Given the description of an element on the screen output the (x, y) to click on. 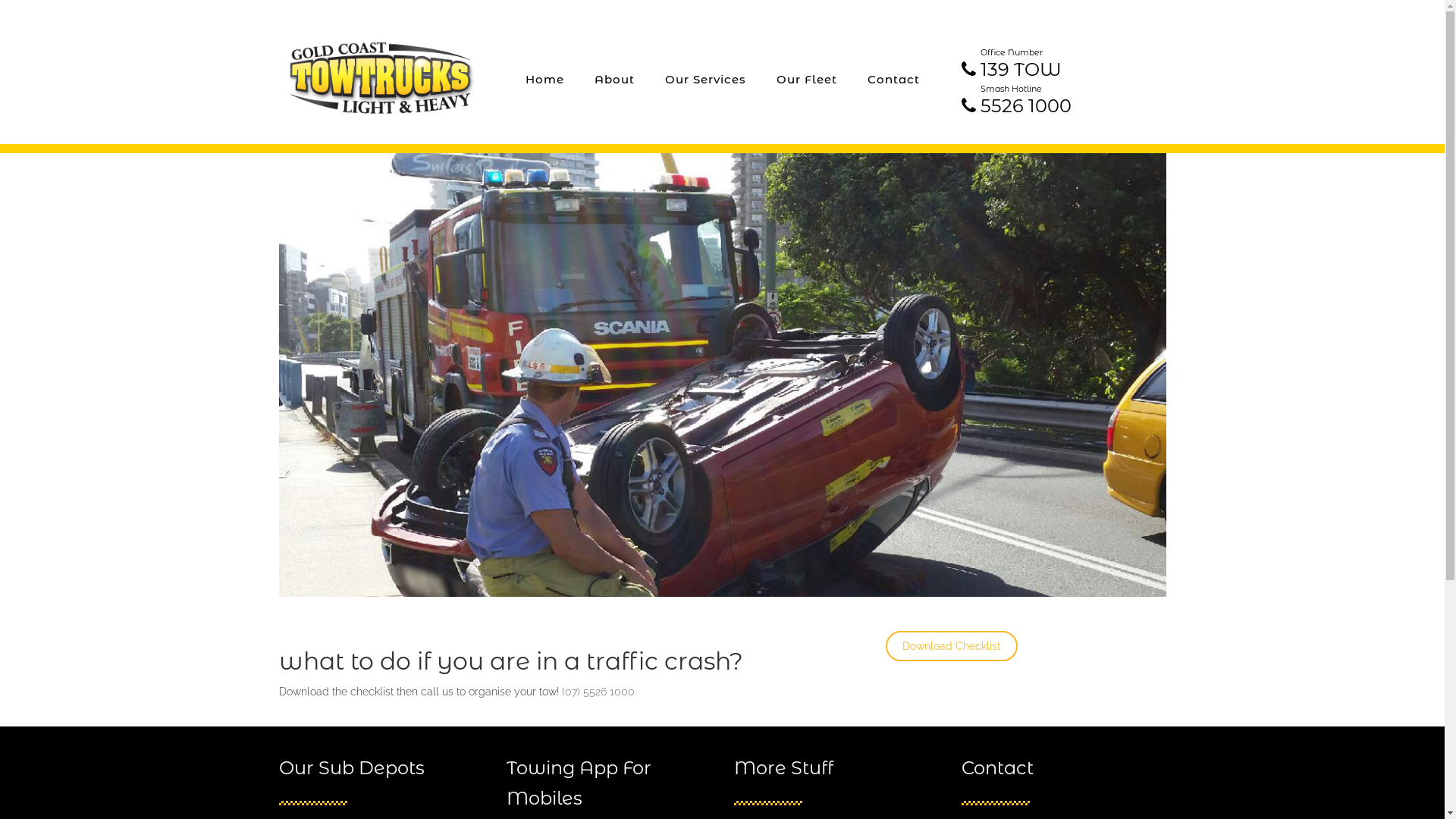
Our Fleet Element type: text (806, 79)
(07) 5526 1000 Element type: text (597, 691)
GoldCoast_TowTrucks_accident_1200x600 Element type: hover (722, 374)
Contact Element type: text (893, 79)
Home Element type: text (543, 79)
5526 1000 Element type: text (1024, 105)
About Element type: text (614, 79)
Download Checklist Element type: text (951, 645)
139 TOW Element type: text (1019, 69)
Our Services Element type: text (704, 79)
